Given the description of an element on the screen output the (x, y) to click on. 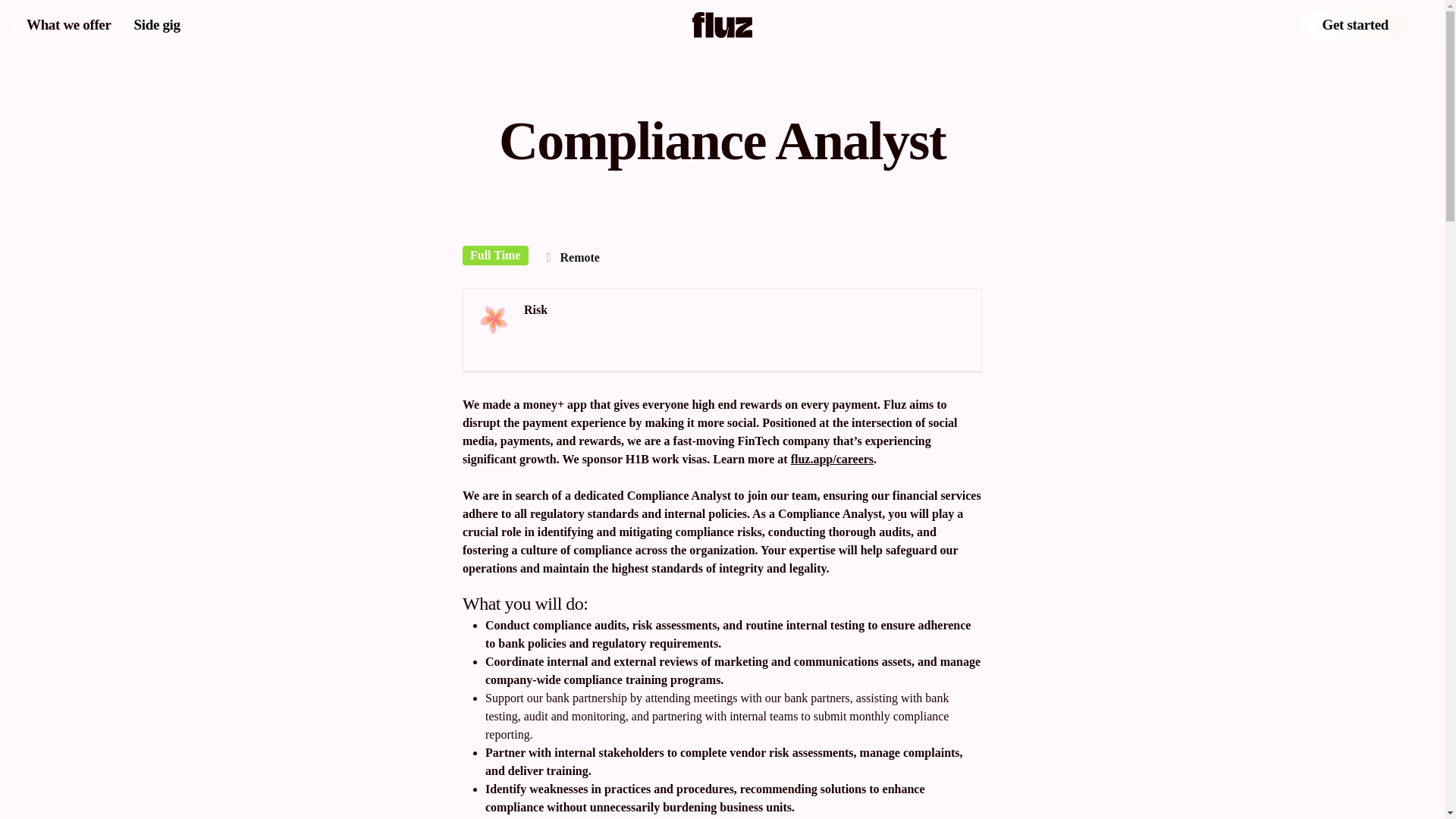
Get started (1355, 24)
Side gig (156, 24)
What we offer (69, 24)
